Given the description of an element on the screen output the (x, y) to click on. 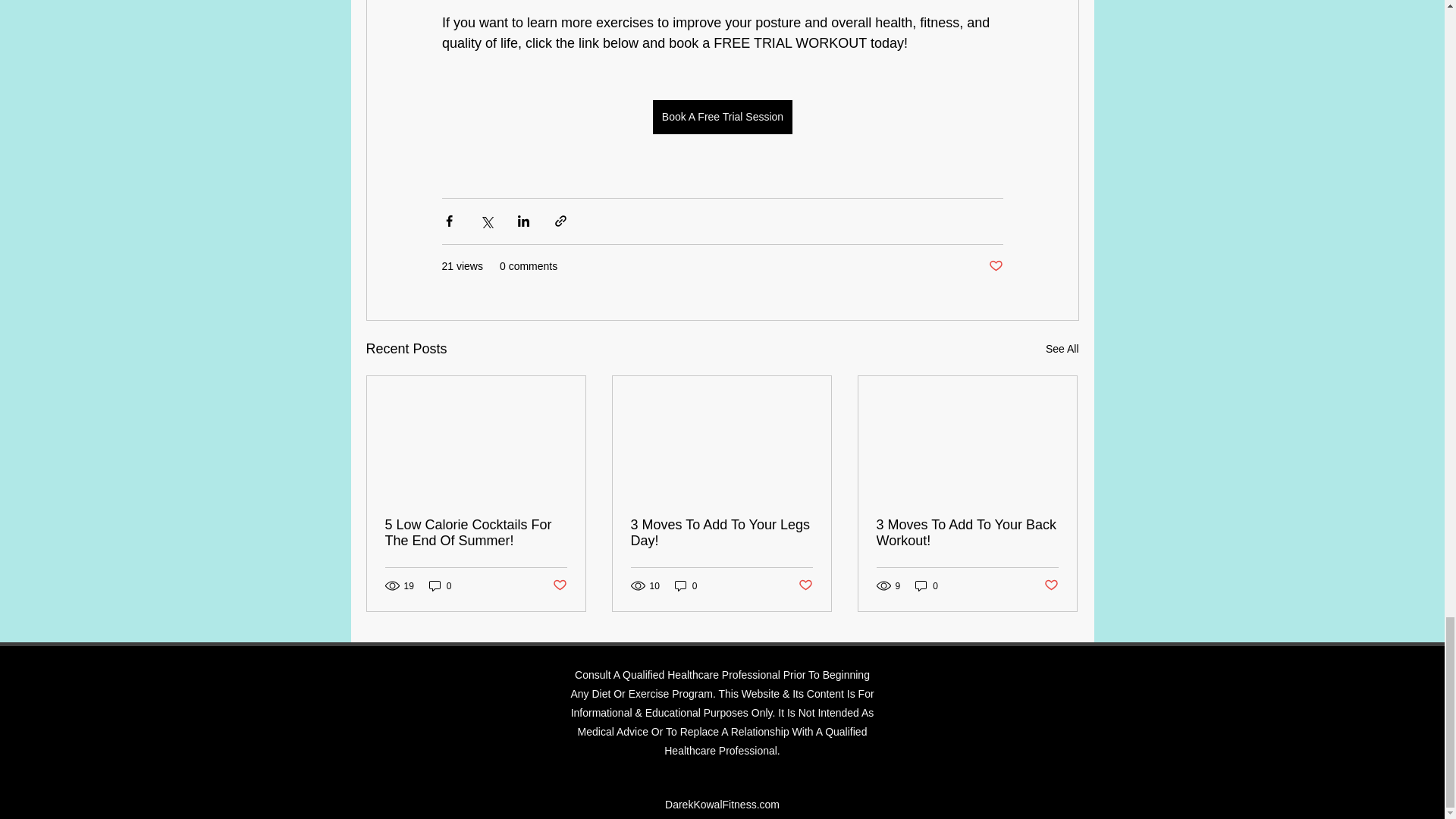
3 Moves To Add To Your Legs Day! (721, 532)
See All (1061, 349)
3 Moves To Add To Your Back Workout! (967, 532)
Post not marked as liked (995, 266)
Post not marked as liked (558, 585)
Post not marked as liked (804, 585)
Post not marked as liked (1050, 585)
5 Low Calorie Cocktails For The End Of Summer! (476, 532)
0 (926, 585)
0 (440, 585)
